Given the description of an element on the screen output the (x, y) to click on. 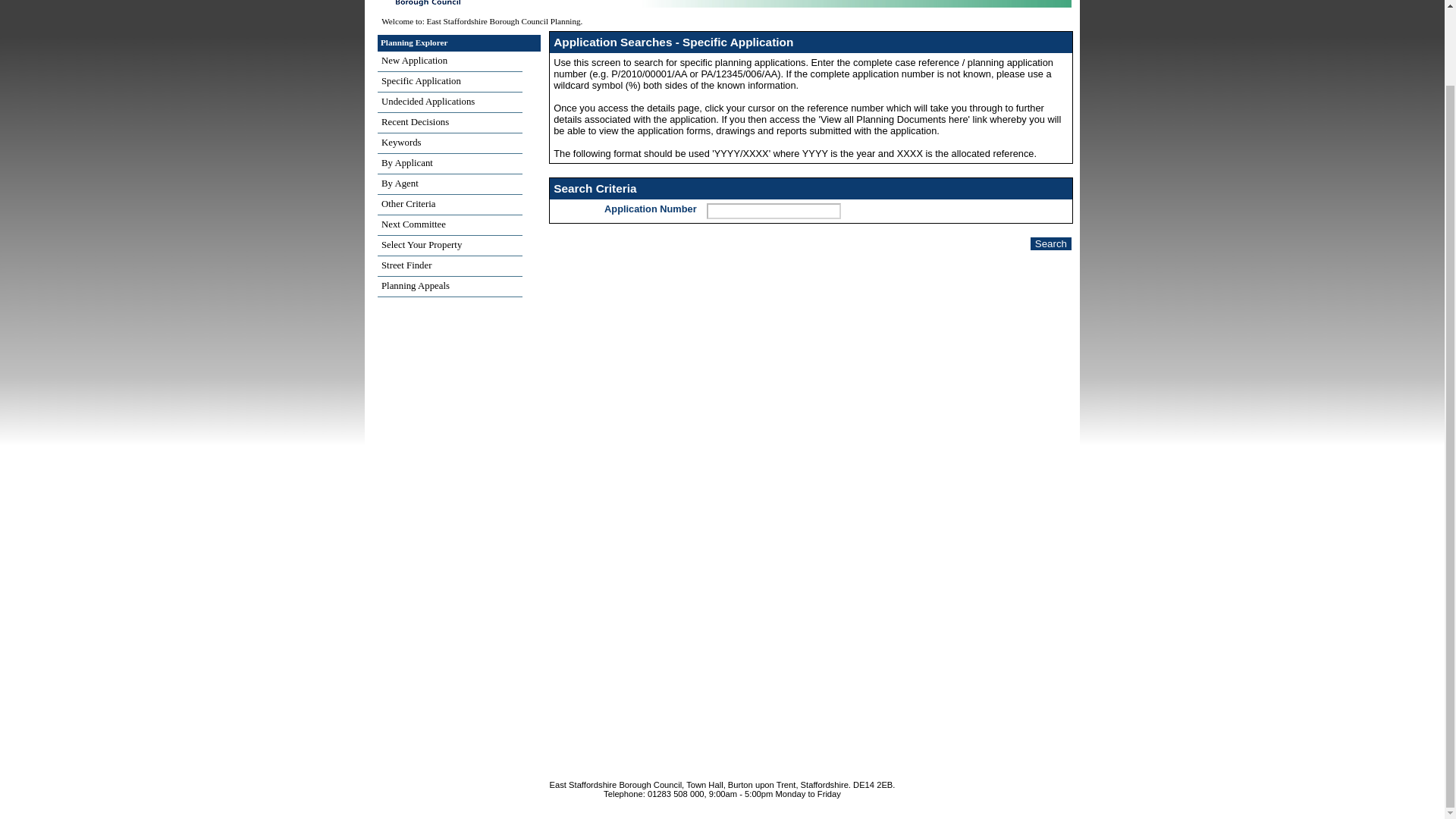
Search for a Specific Application (449, 82)
Planning Appeals (449, 286)
Select Your Property (449, 245)
Search for an Application using Other Criteria (449, 204)
Other Criteria (449, 204)
Street Finder (449, 266)
Search for a Planning Appeal (449, 286)
Specific Application (449, 82)
Search for Your Property (449, 245)
By Agent (449, 184)
Undecided Applications (449, 102)
Find a Street (449, 266)
Next Committee (449, 225)
Search for an Application by Applicant (449, 163)
New Application (449, 61)
